Given the description of an element on the screen output the (x, y) to click on. 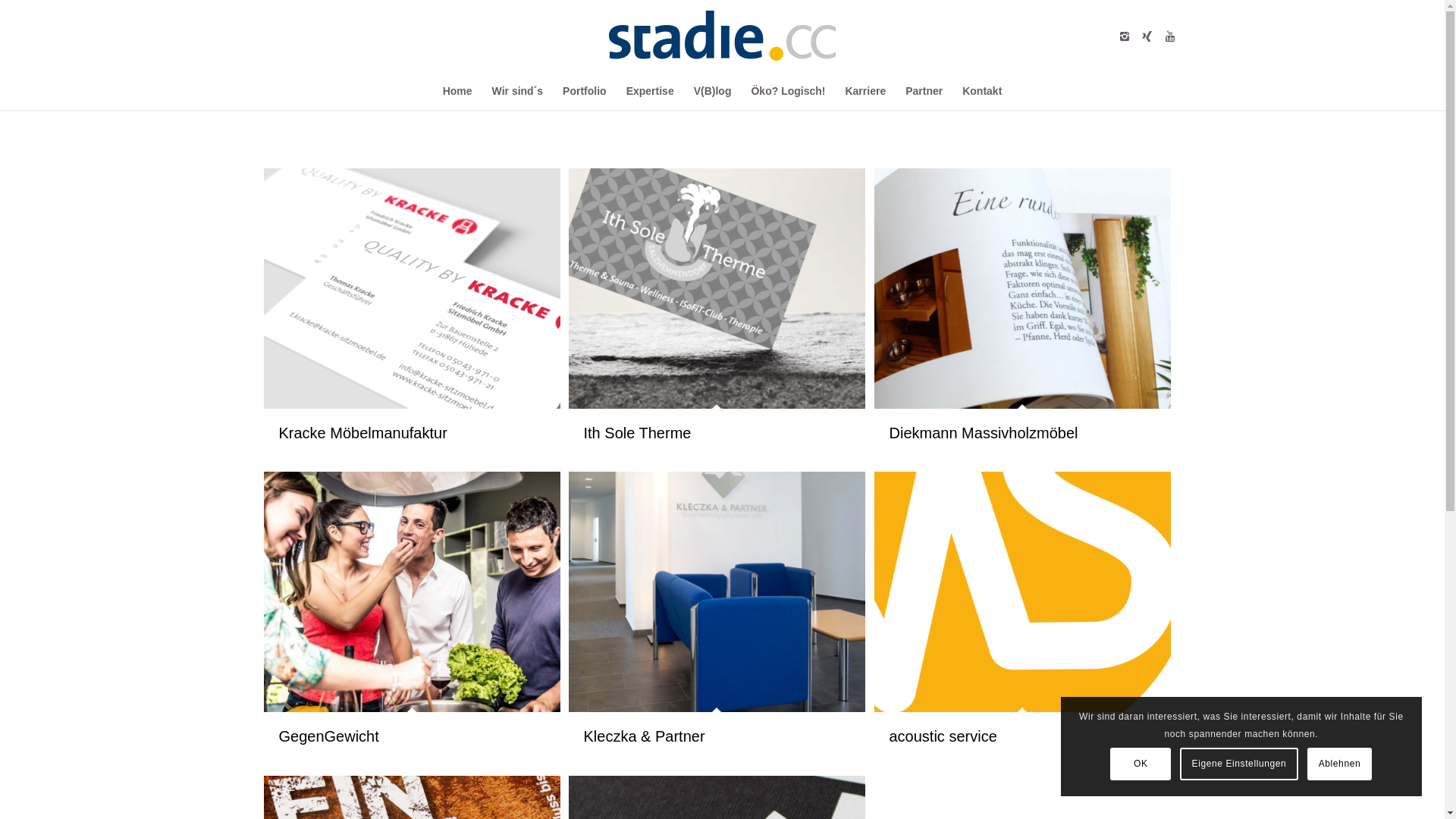
Kleczka & Partner Element type: text (644, 736)
Ith Sole Therme Element type: hover (717, 288)
OK Element type: text (1140, 763)
Ith Sole Therme Element type: text (637, 432)
Eigene Einstellungen Element type: text (1238, 763)
Xing Element type: hover (1146, 35)
GegenGewicht Element type: hover (412, 591)
acoustic service Element type: hover (1021, 591)
Karriere Element type: text (864, 90)
acoustic service Element type: text (942, 736)
GegenGewicht Element type: text (329, 736)
V(B)log Element type: text (712, 90)
Instagram Element type: hover (1124, 35)
Home Element type: text (457, 90)
Ablehnen Element type: text (1339, 763)
Partner Element type: text (923, 90)
Portfolio Element type: text (584, 90)
Kleczka & Partner Element type: hover (717, 591)
Expertise Element type: text (650, 90)
Kontakt Element type: text (981, 90)
Youtube Element type: hover (1169, 35)
